Given the description of an element on the screen output the (x, y) to click on. 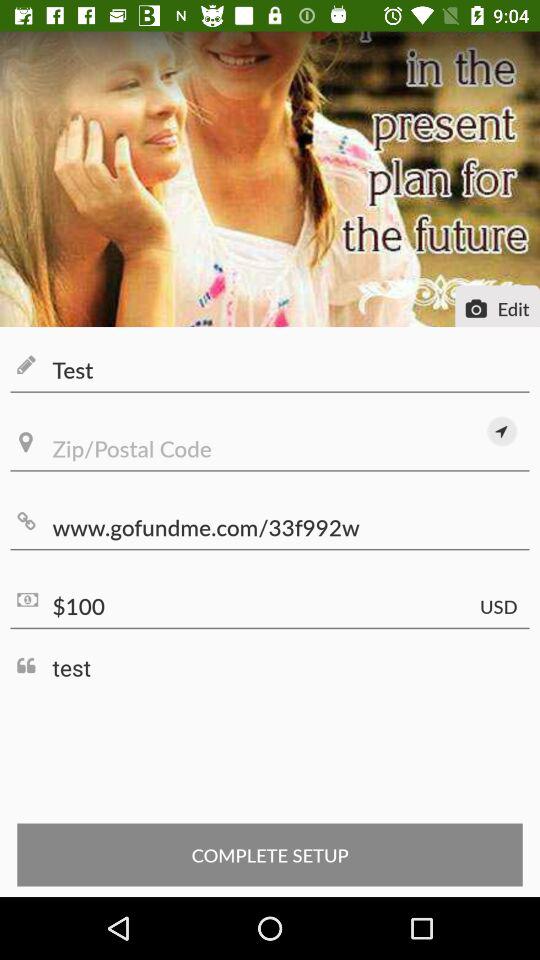
turn on complete setup item (269, 854)
